Given the description of an element on the screen output the (x, y) to click on. 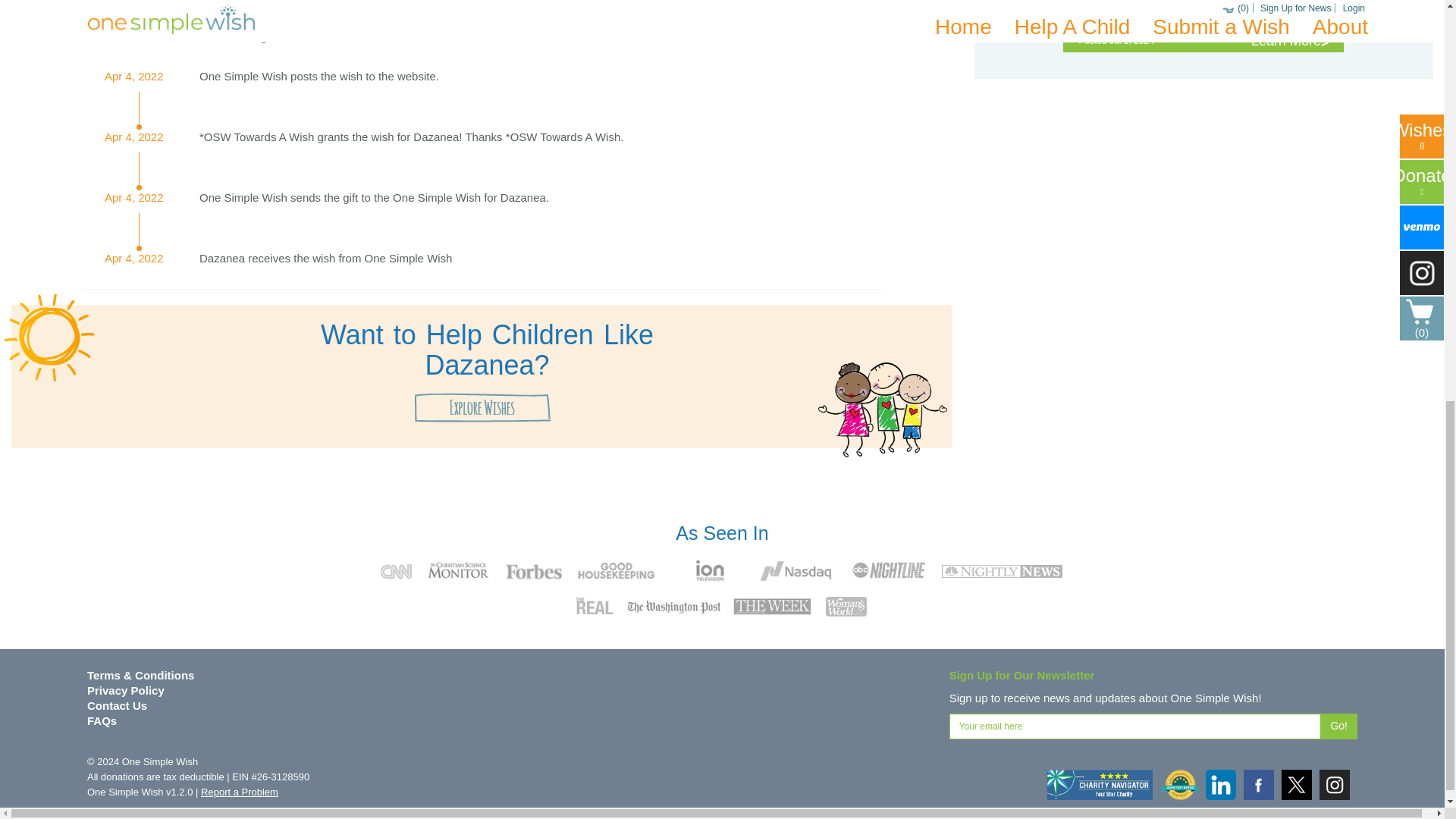
Follow on Facebook (1258, 784)
Follow on Instagram (1334, 784)
Follow on LinkedIn (1220, 784)
Follow on Twitter (1296, 784)
